Given the description of an element on the screen output the (x, y) to click on. 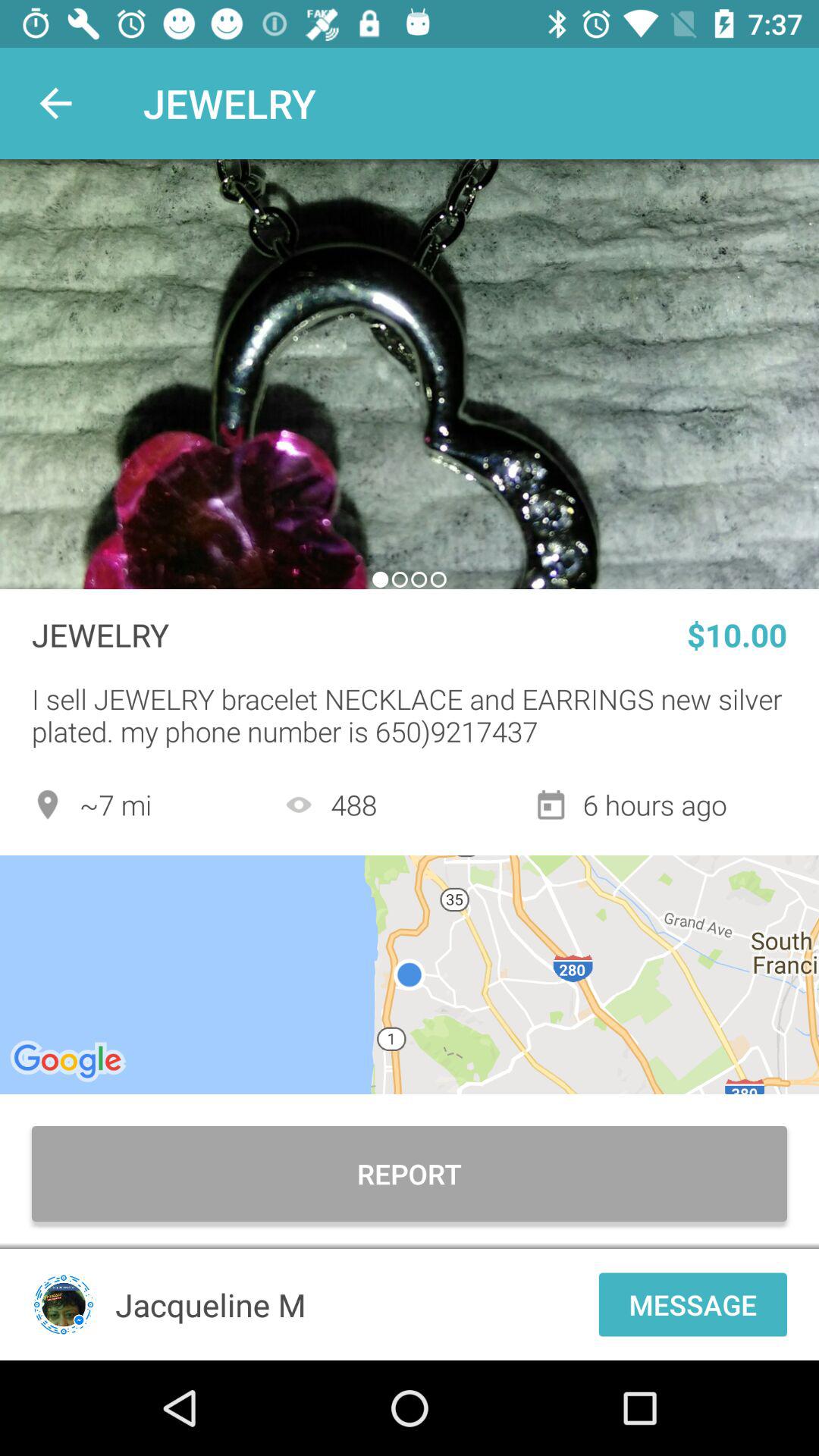
jump until the message item (692, 1304)
